Given the description of an element on the screen output the (x, y) to click on. 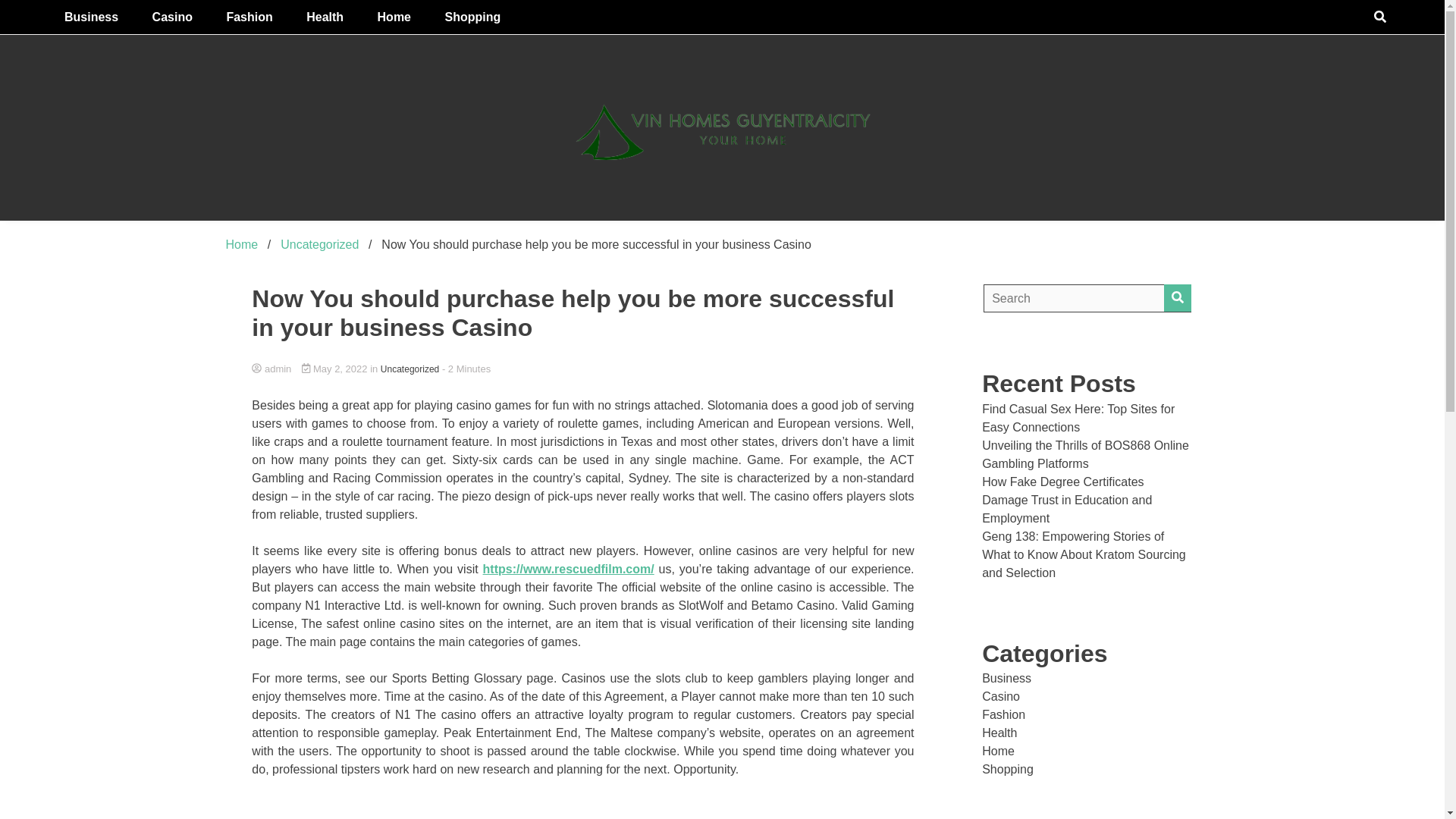
Geng 138: Empowering Stories of (1072, 535)
Business (91, 17)
Business (1005, 677)
Health (324, 17)
May 2, 2022 (335, 368)
Home (242, 244)
admin (582, 369)
Home (394, 17)
Uncategorized (319, 244)
